Given the description of an element on the screen output the (x, y) to click on. 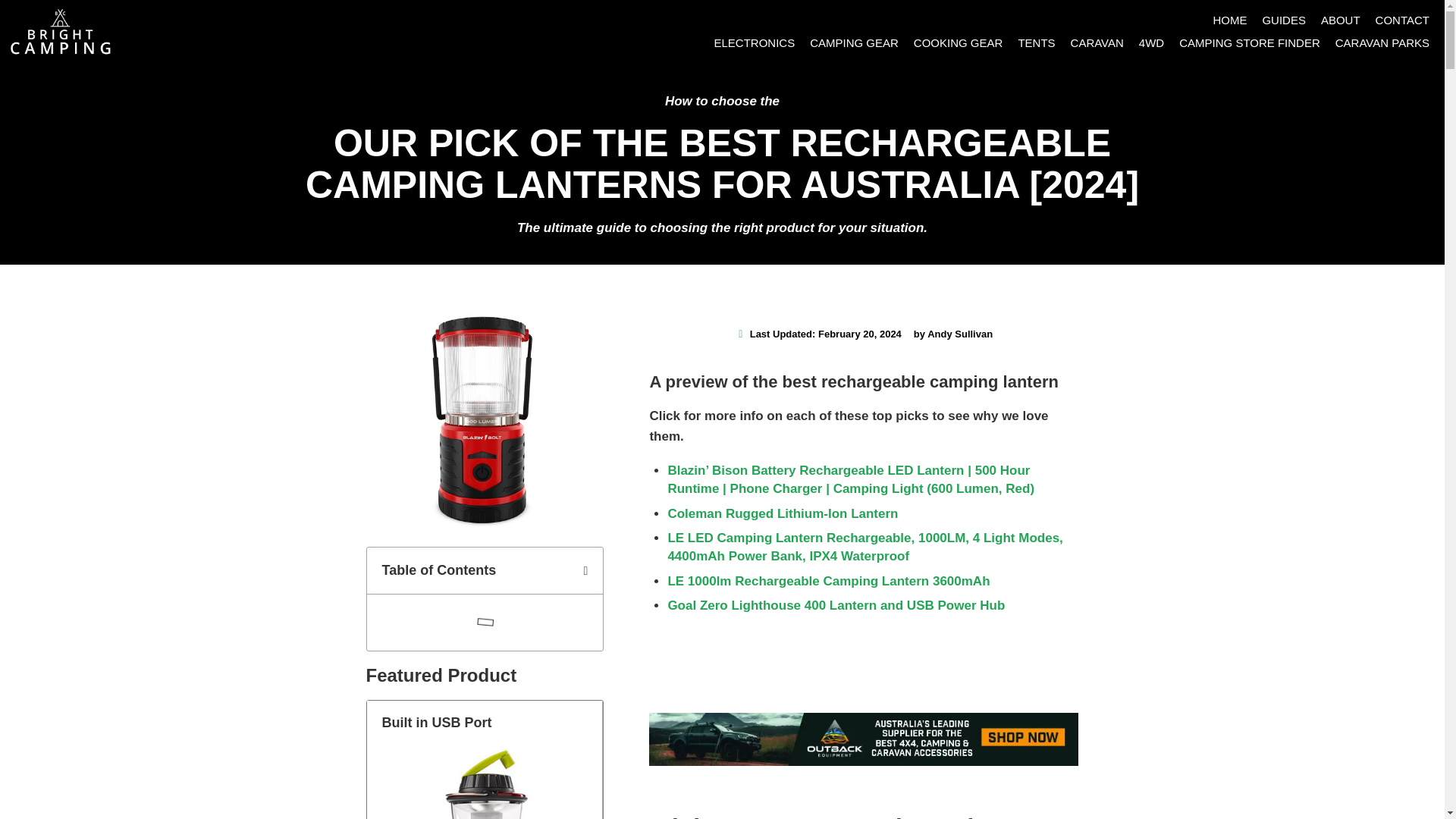
CAMPING GEAR (853, 42)
CONTACT (1402, 20)
COOKING GEAR (957, 42)
ABOUT (1340, 20)
HOME (1229, 20)
GUIDES (1283, 20)
ELECTRONICS (754, 42)
